Given the description of an element on the screen output the (x, y) to click on. 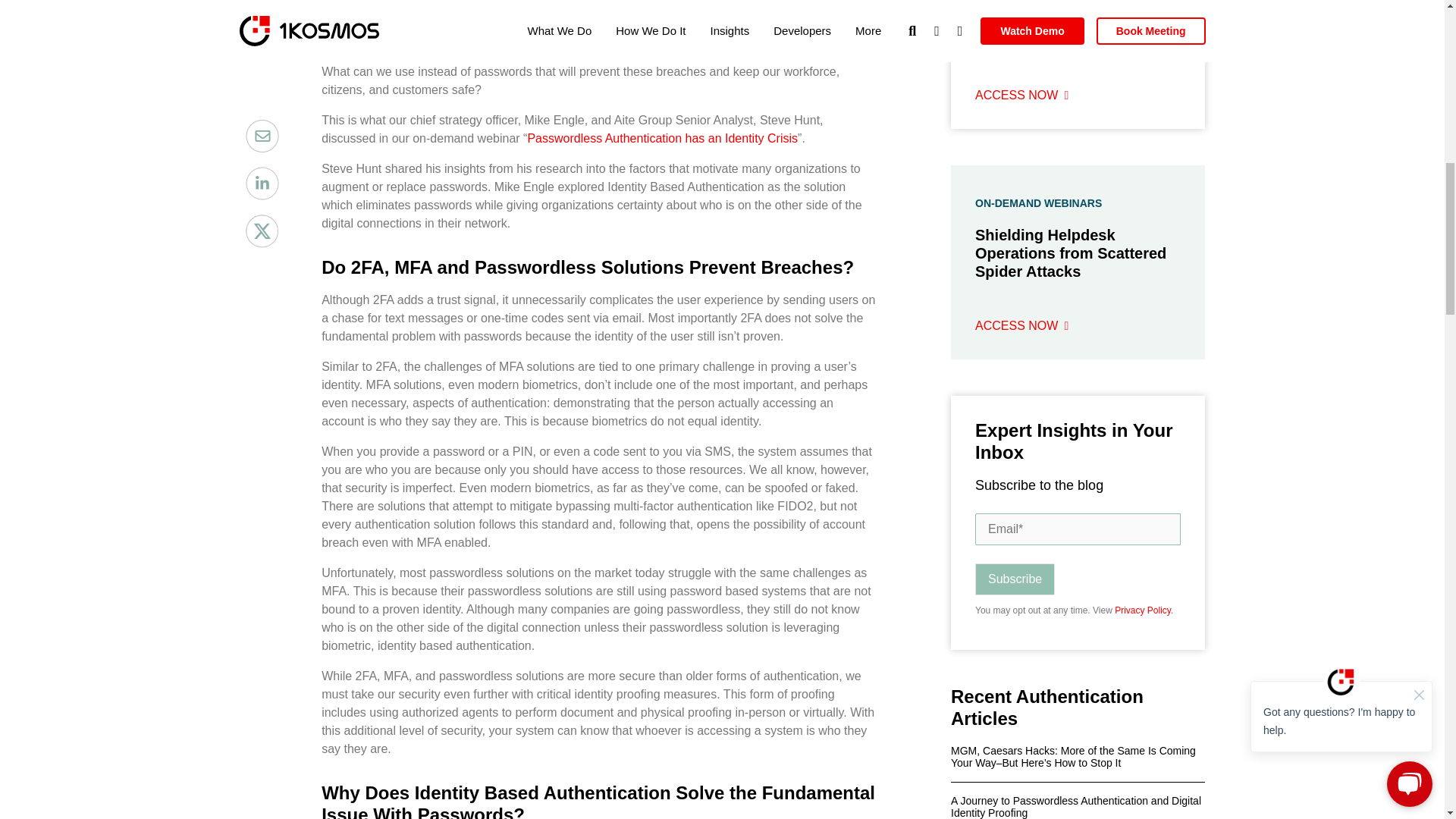
Subscribe (1014, 579)
